Given the description of an element on the screen output the (x, y) to click on. 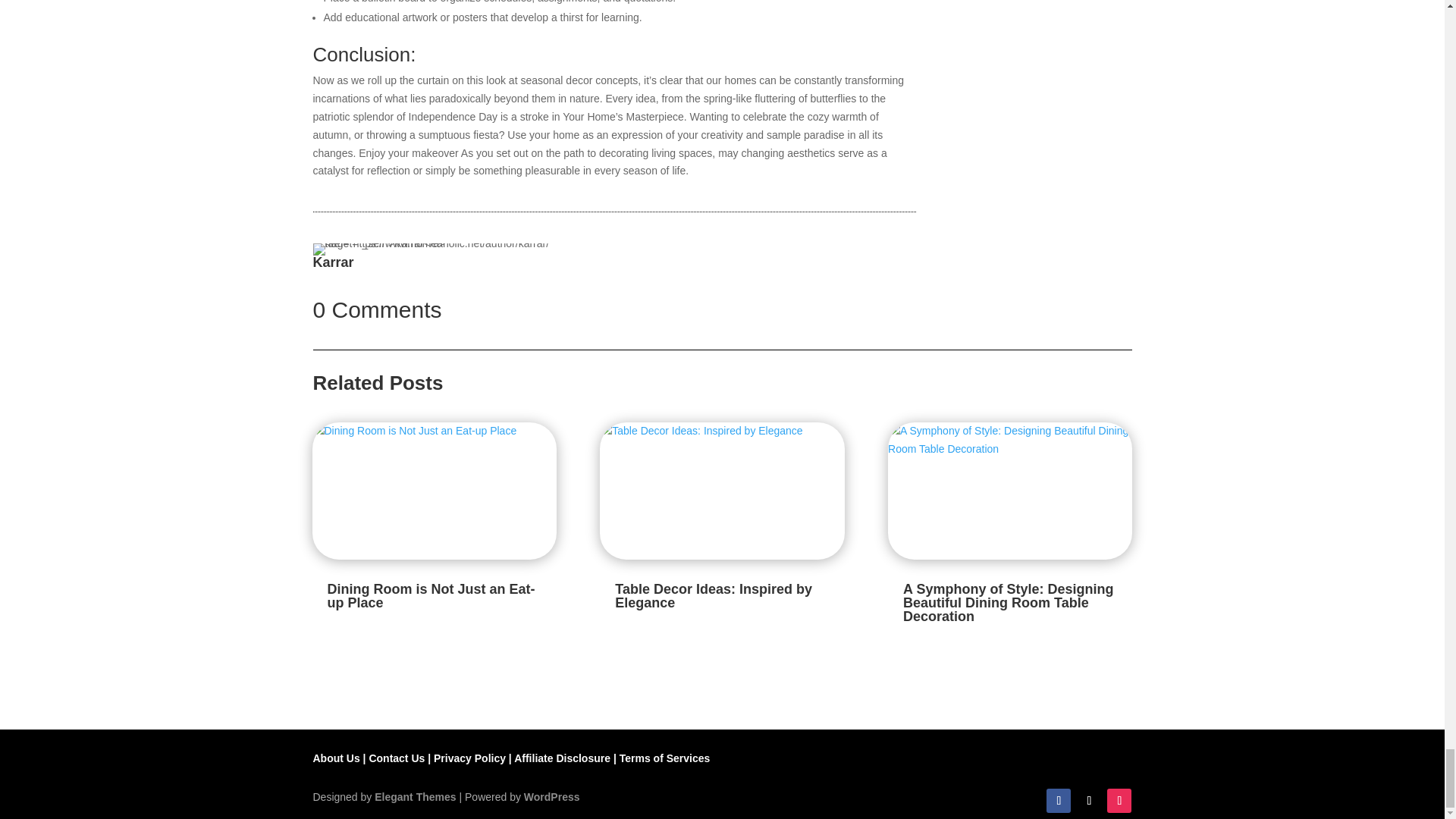
Follow on Instagram (1118, 800)
Follow on Facebook (1058, 800)
Follow on X (1088, 800)
